Given the description of an element on the screen output the (x, y) to click on. 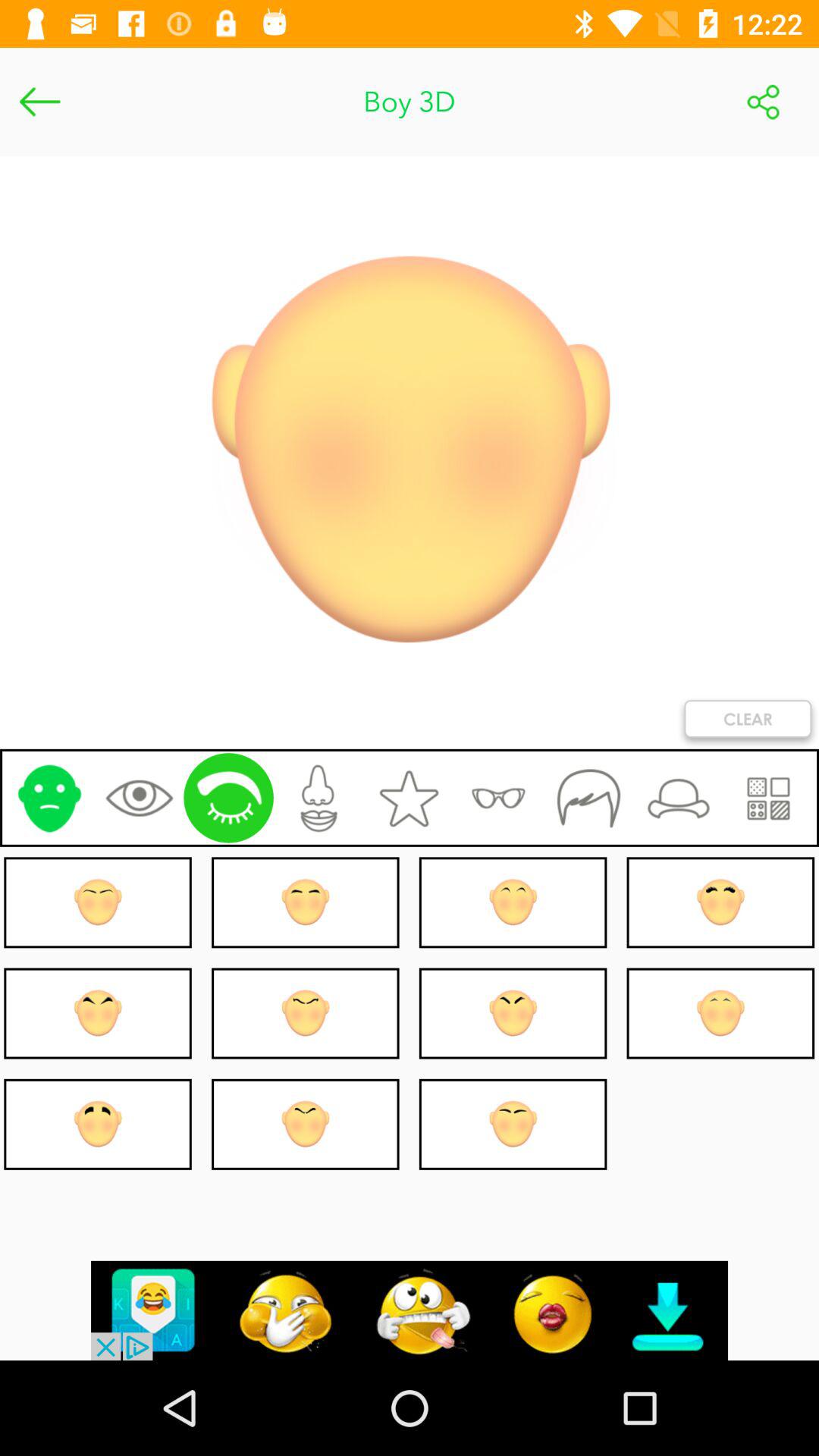
go back (40, 101)
